Given the description of an element on the screen output the (x, y) to click on. 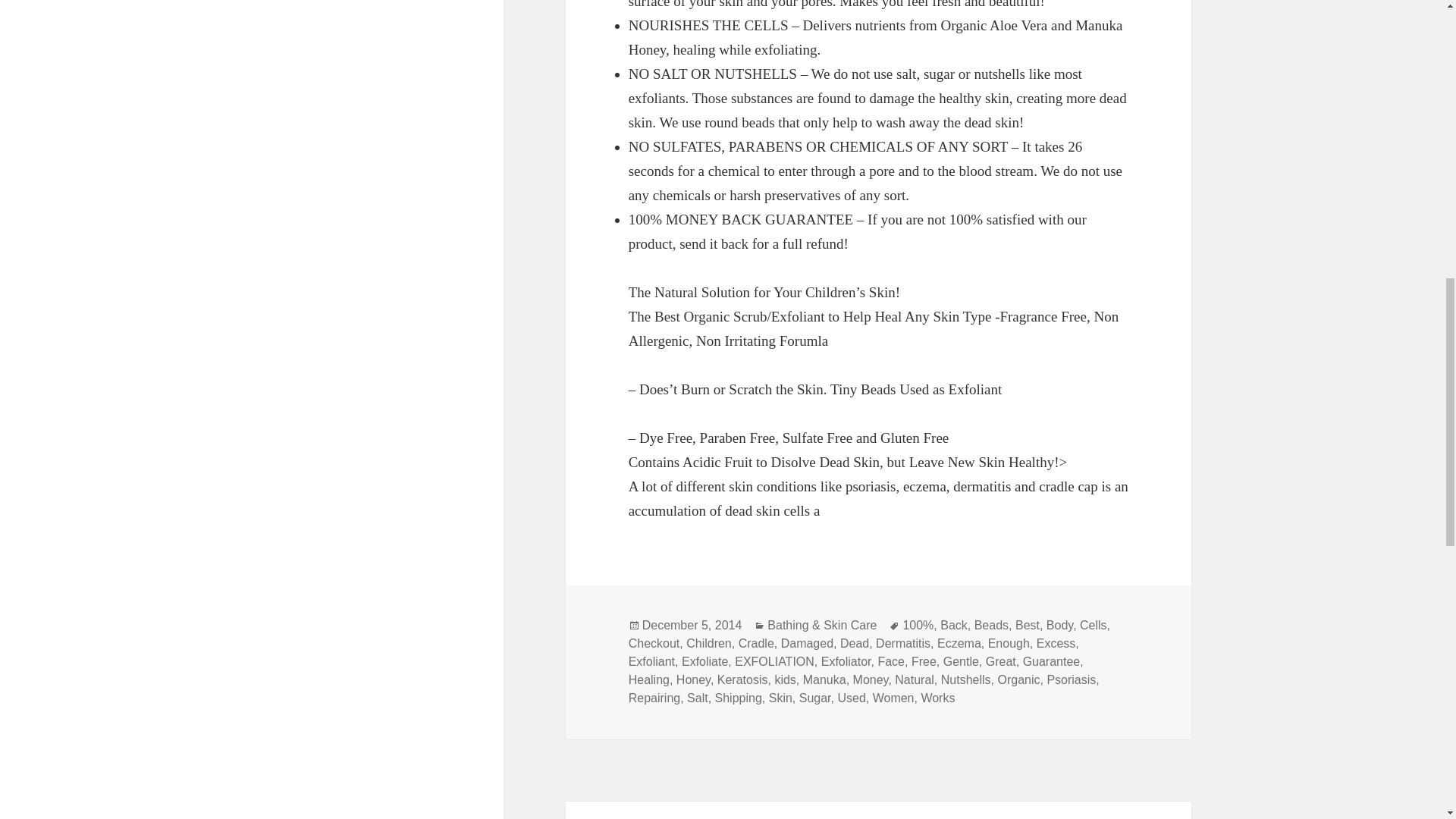
Face (890, 662)
Eczema (959, 643)
Body (1059, 625)
Best (1026, 625)
Dead (854, 643)
Damaged (806, 643)
EXFOLIATION (774, 662)
Exfoliator (845, 662)
Exfoliate (704, 662)
Enough (1008, 643)
Exfoliant (651, 662)
Back (954, 625)
Cradle (756, 643)
December 5, 2014 (692, 625)
Children (708, 643)
